Given the description of an element on the screen output the (x, y) to click on. 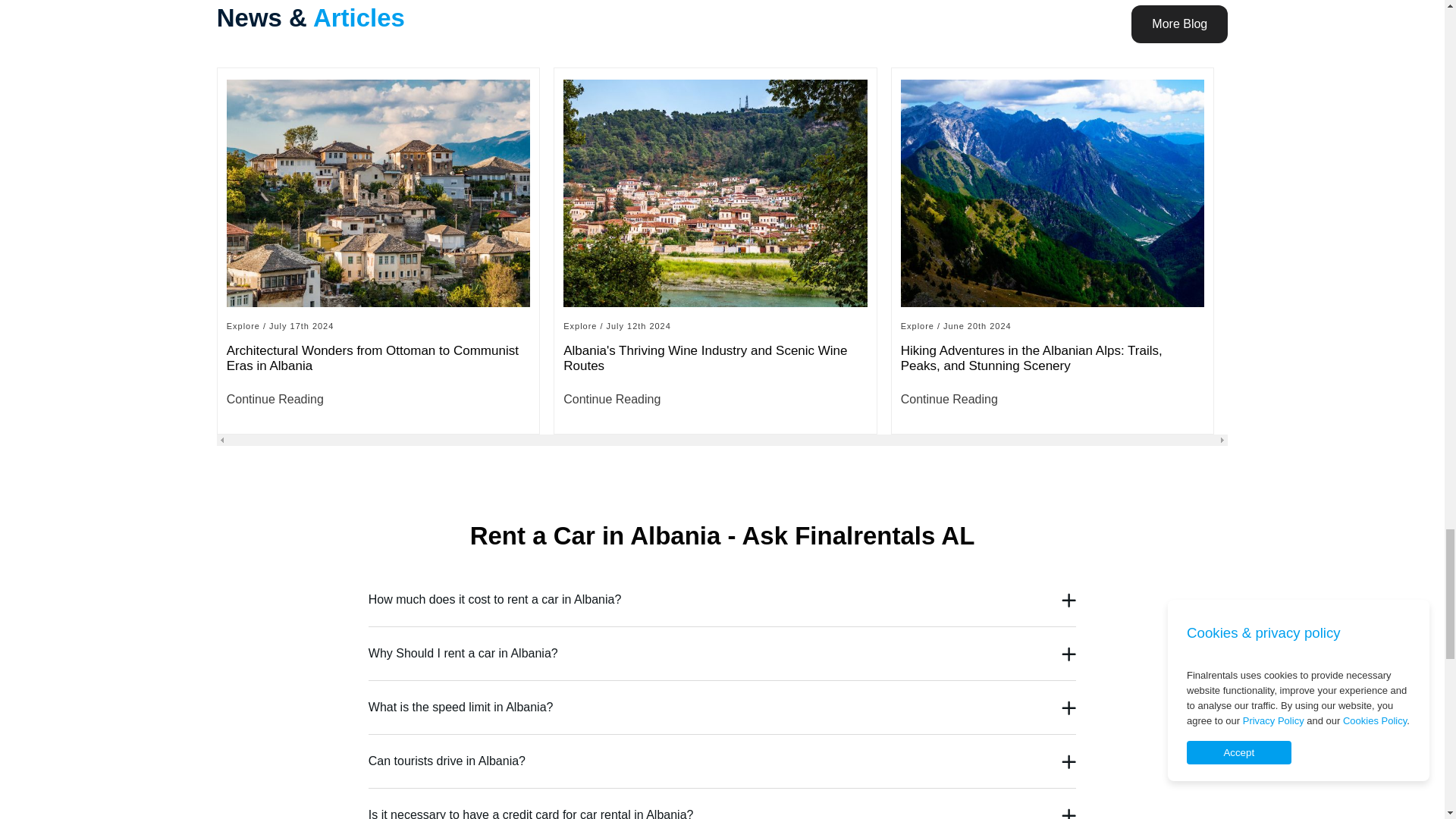
More Blog (1179, 23)
Continue Reading (715, 399)
Continue Reading (379, 399)
Continue Reading (1053, 399)
